Given the description of an element on the screen output the (x, y) to click on. 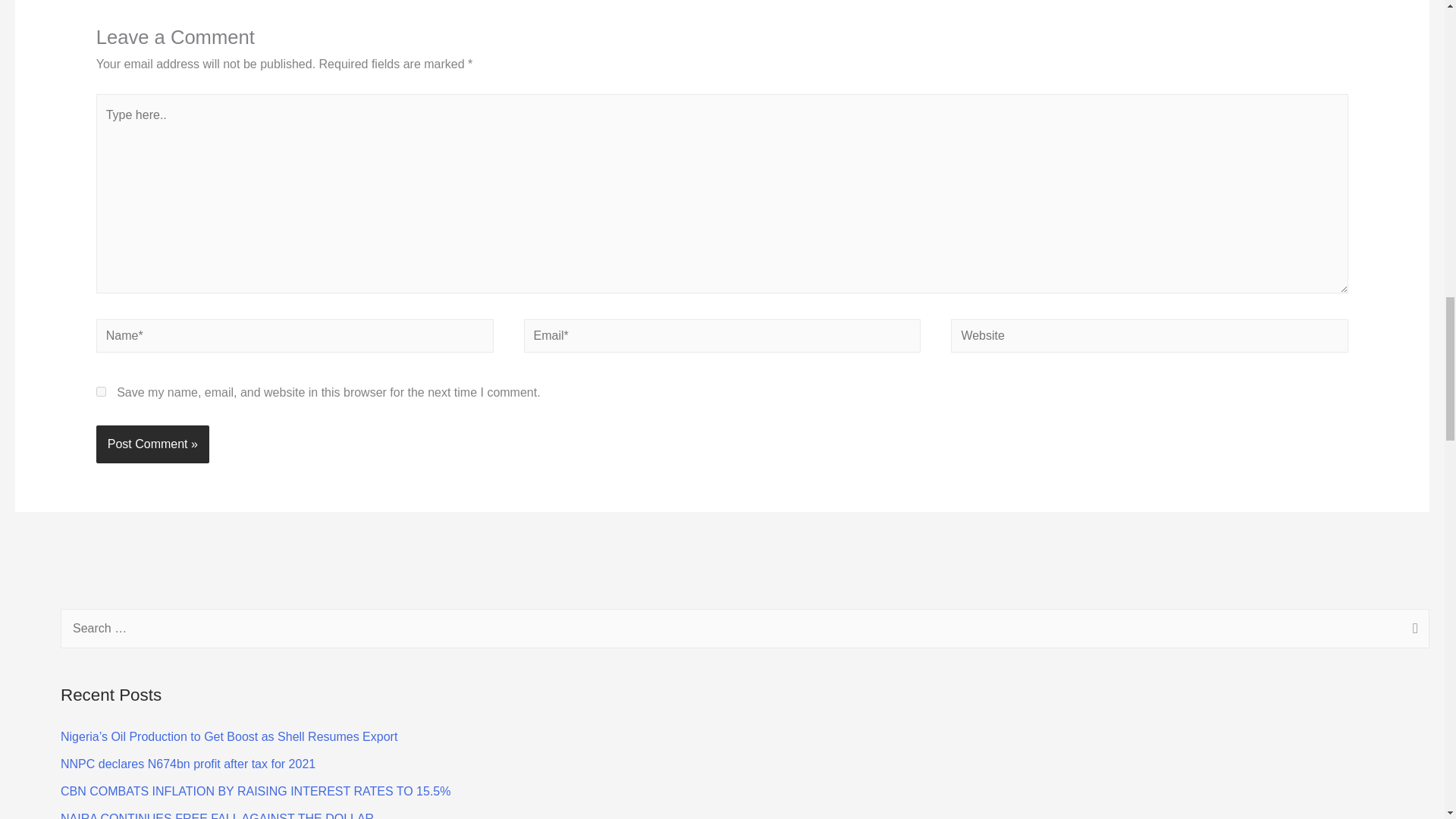
yes (101, 391)
Search (1411, 630)
Search (1411, 630)
